Given the description of an element on the screen output the (x, y) to click on. 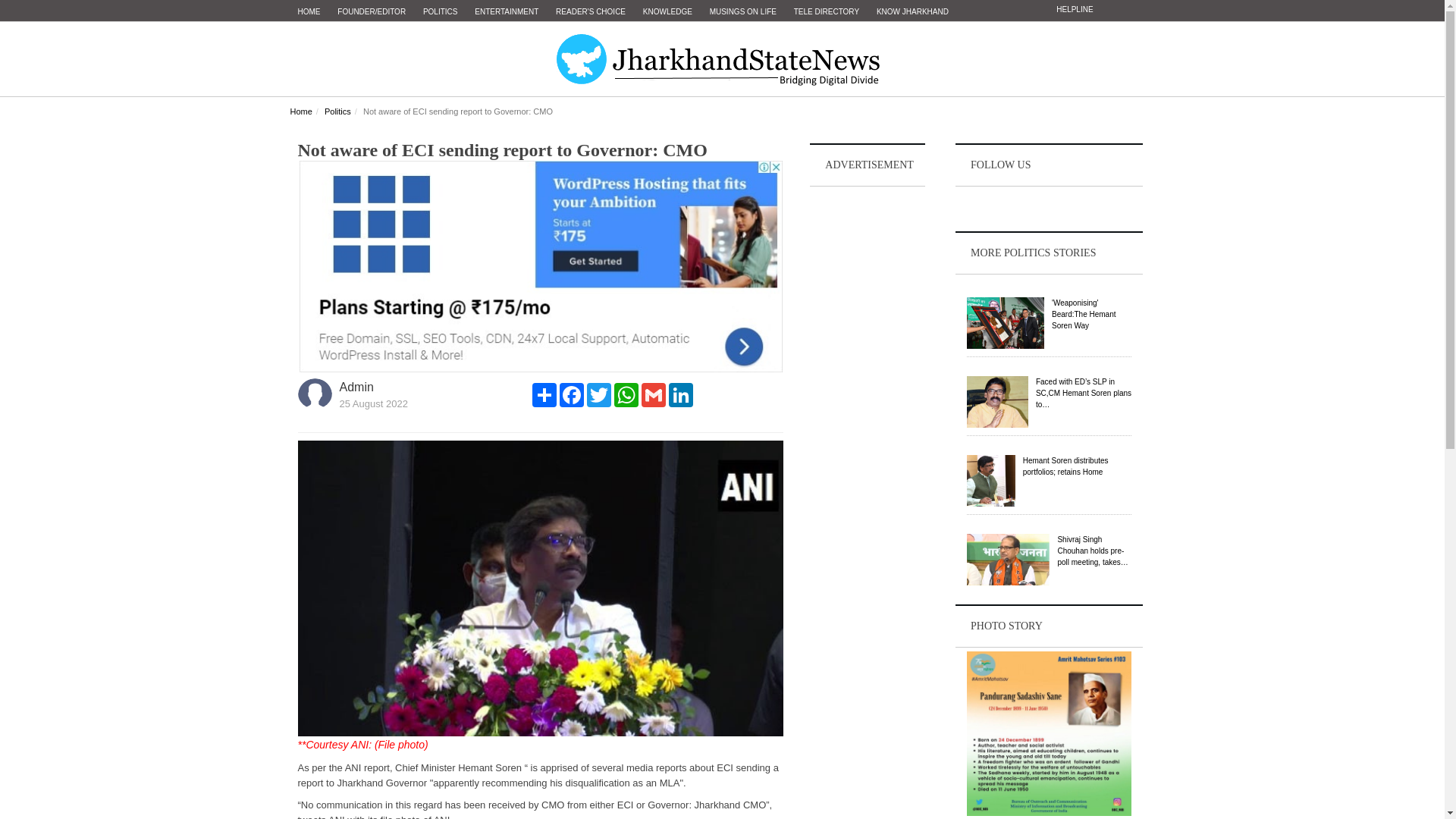
LinkedIn (680, 395)
Politics (337, 111)
TELE DIRECTORY (826, 11)
POLITICS (439, 11)
HELPLINE (1074, 9)
KNOWLEDGE (667, 11)
Gmail (653, 395)
Advertisement (867, 416)
KNOW JHARKHAND (912, 11)
Facebook (571, 395)
Twitter (598, 395)
WhatsApp (626, 395)
ENTERTAINMENT (506, 11)
HOME (308, 11)
MUSINGS ON LIFE (742, 11)
